Given the description of an element on the screen output the (x, y) to click on. 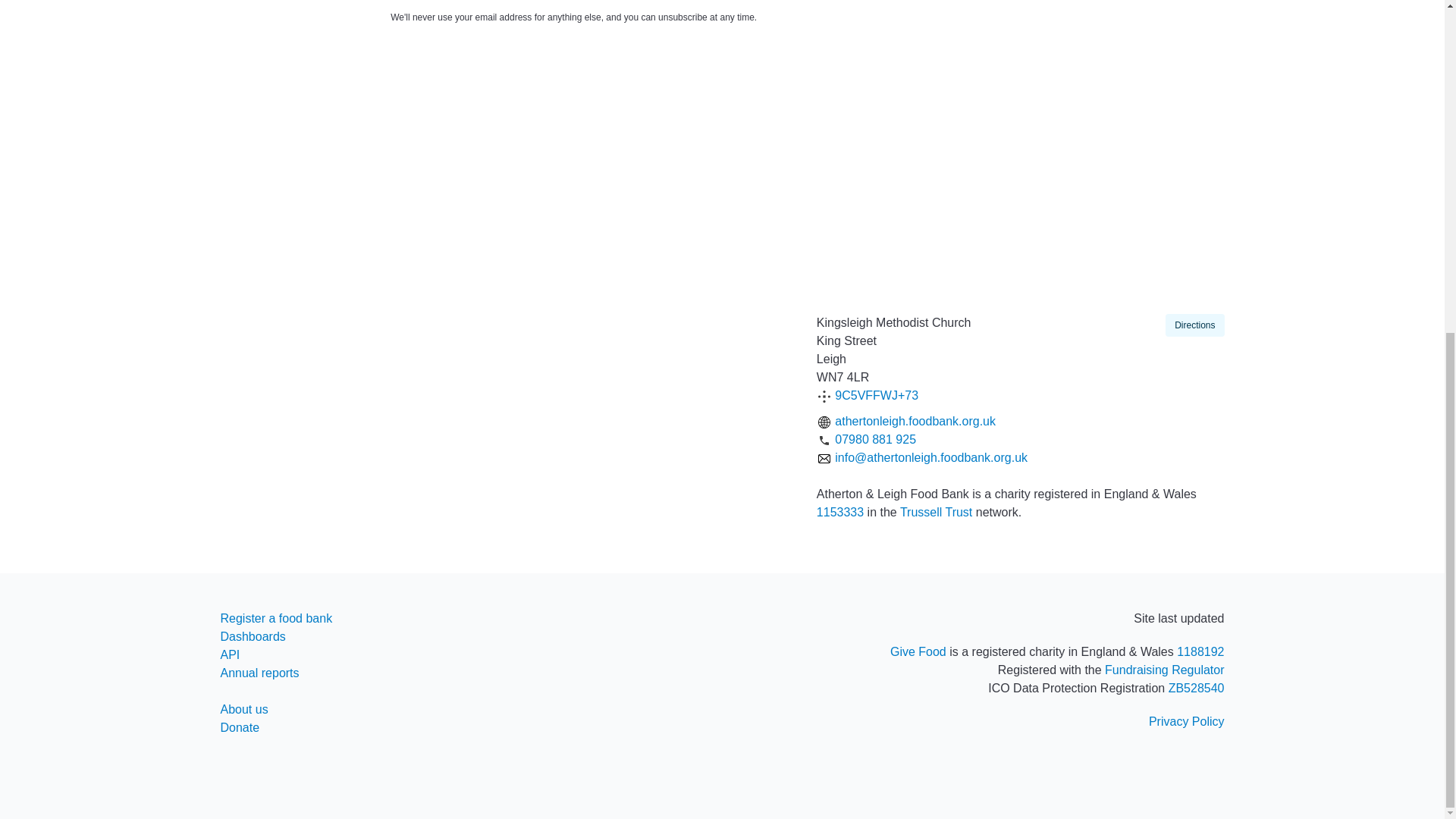
Fundraising Regulator (1164, 669)
API (229, 654)
Donate (239, 727)
ZB528540 (1196, 687)
Dashboards (252, 635)
1153333 (839, 512)
Annual reports (258, 672)
Privacy Policy (1186, 721)
Directions (1195, 324)
athertonleigh.foodbank.org.uk (914, 420)
